Given the description of an element on the screen output the (x, y) to click on. 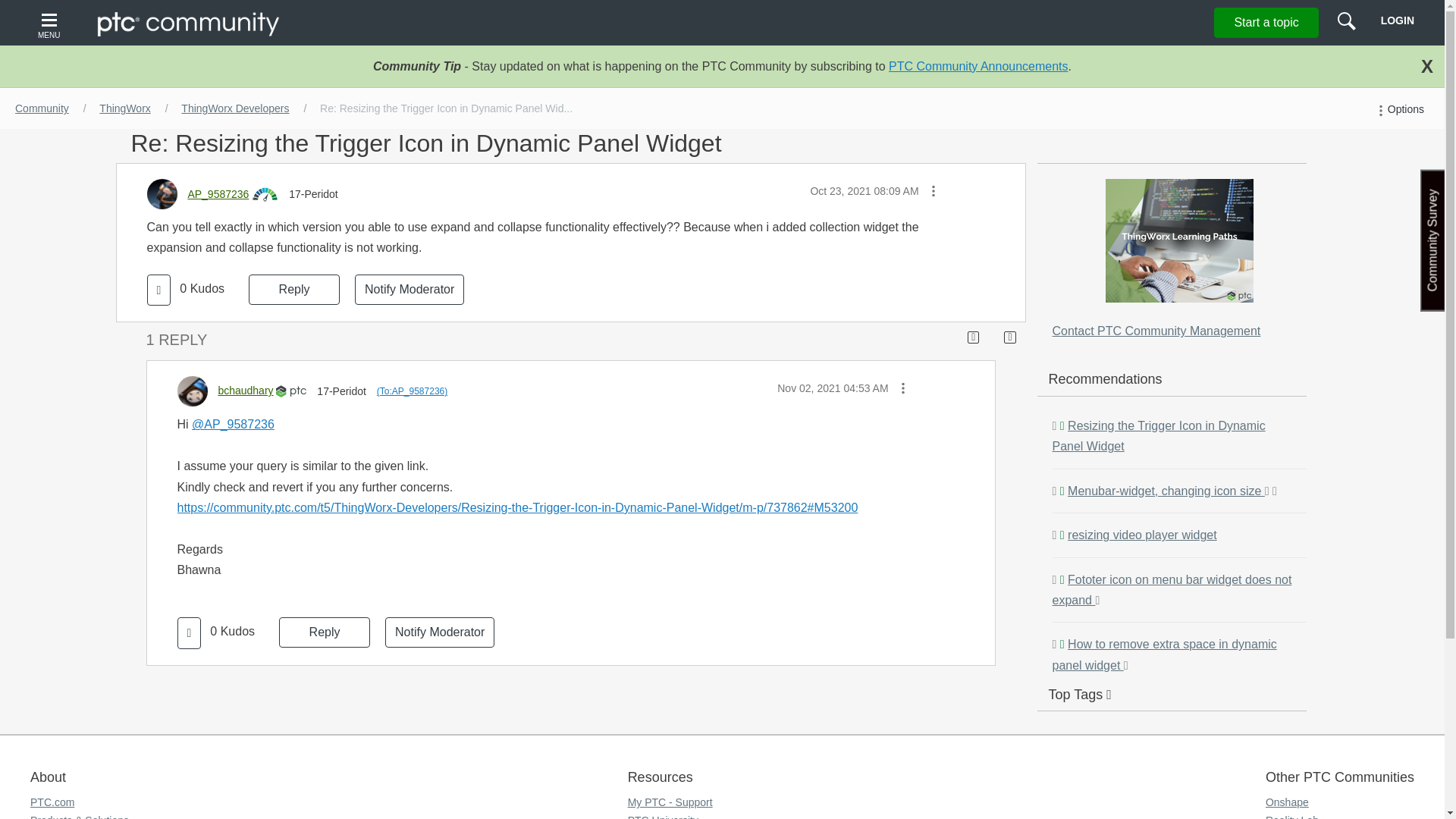
ThingWorx (124, 108)
PTC Community Announcements (978, 65)
MENU (50, 22)
Community (42, 108)
LOGIN (1396, 20)
Start a topic (1265, 22)
Options (1398, 109)
ThingWorx Developers (235, 108)
